Given the description of an element on the screen output the (x, y) to click on. 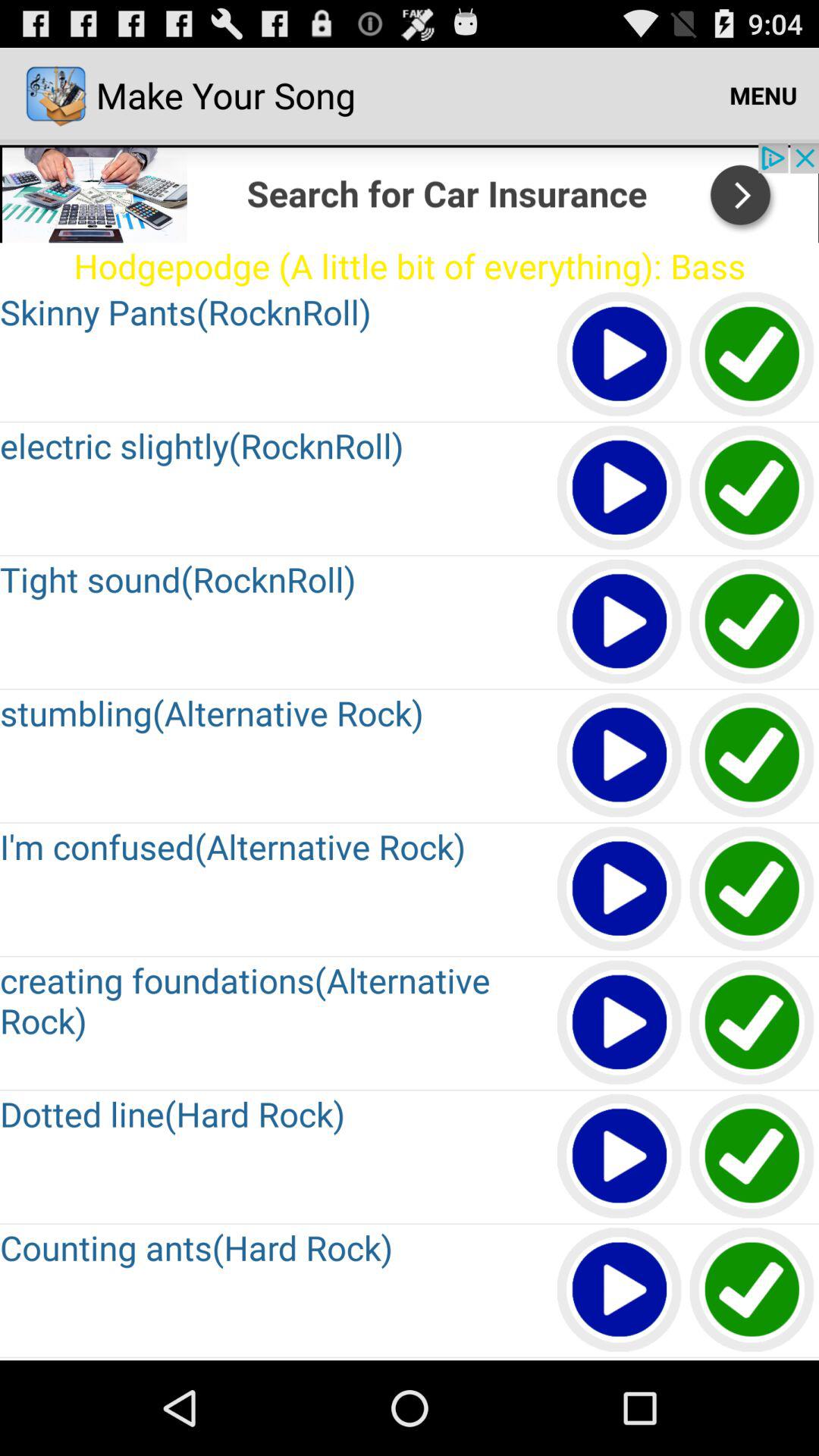
play the video (619, 488)
